Given the description of an element on the screen output the (x, y) to click on. 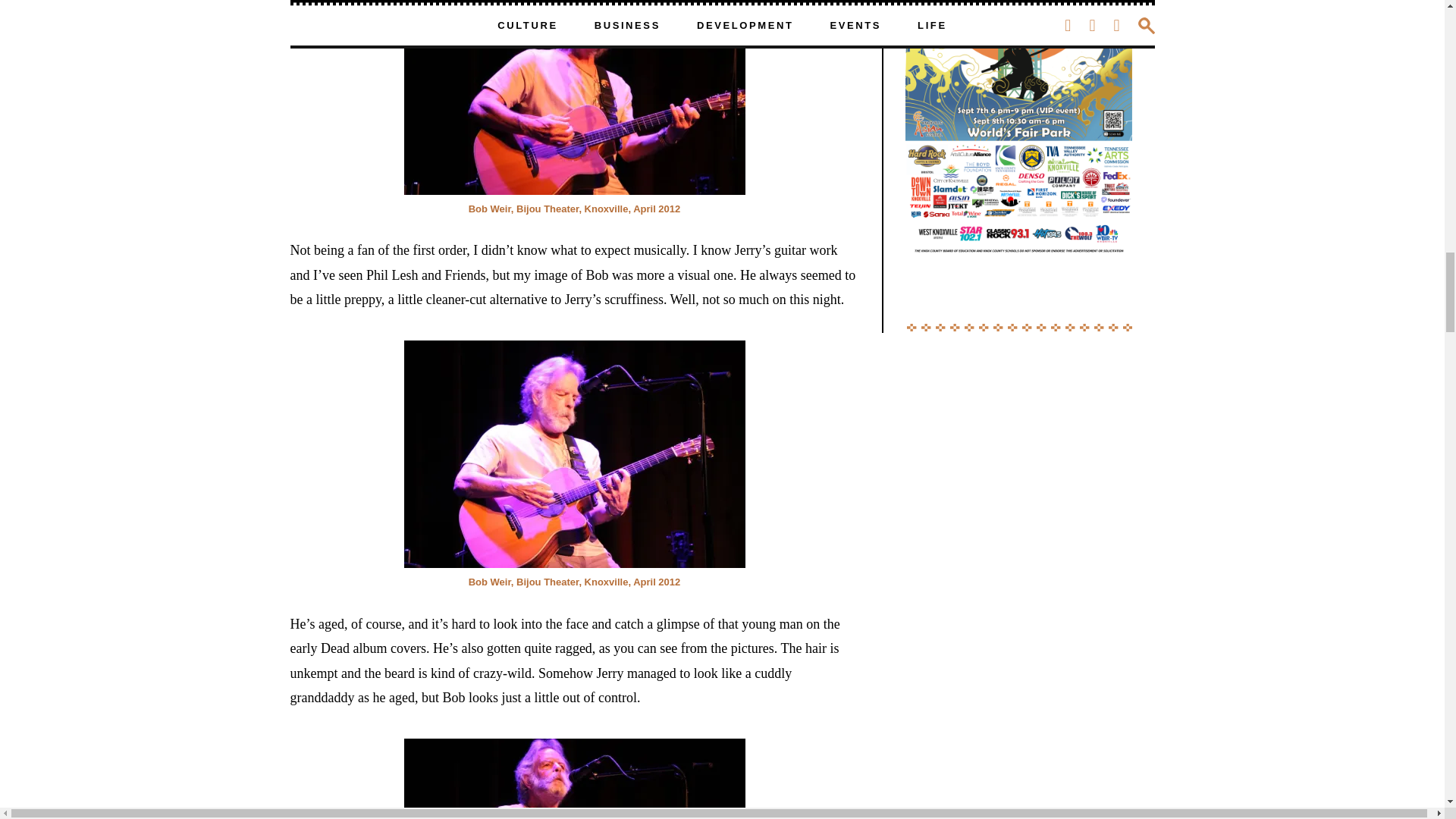
Bob Weir5, Bijou Theater, Knoxville, April 2012 (573, 97)
Bob Weir7, Bijou Theater, Knoxville, April 2012 (573, 778)
Bob Weir6, Bijou Theater, Knoxville, April 2012 (573, 454)
